Given the description of an element on the screen output the (x, y) to click on. 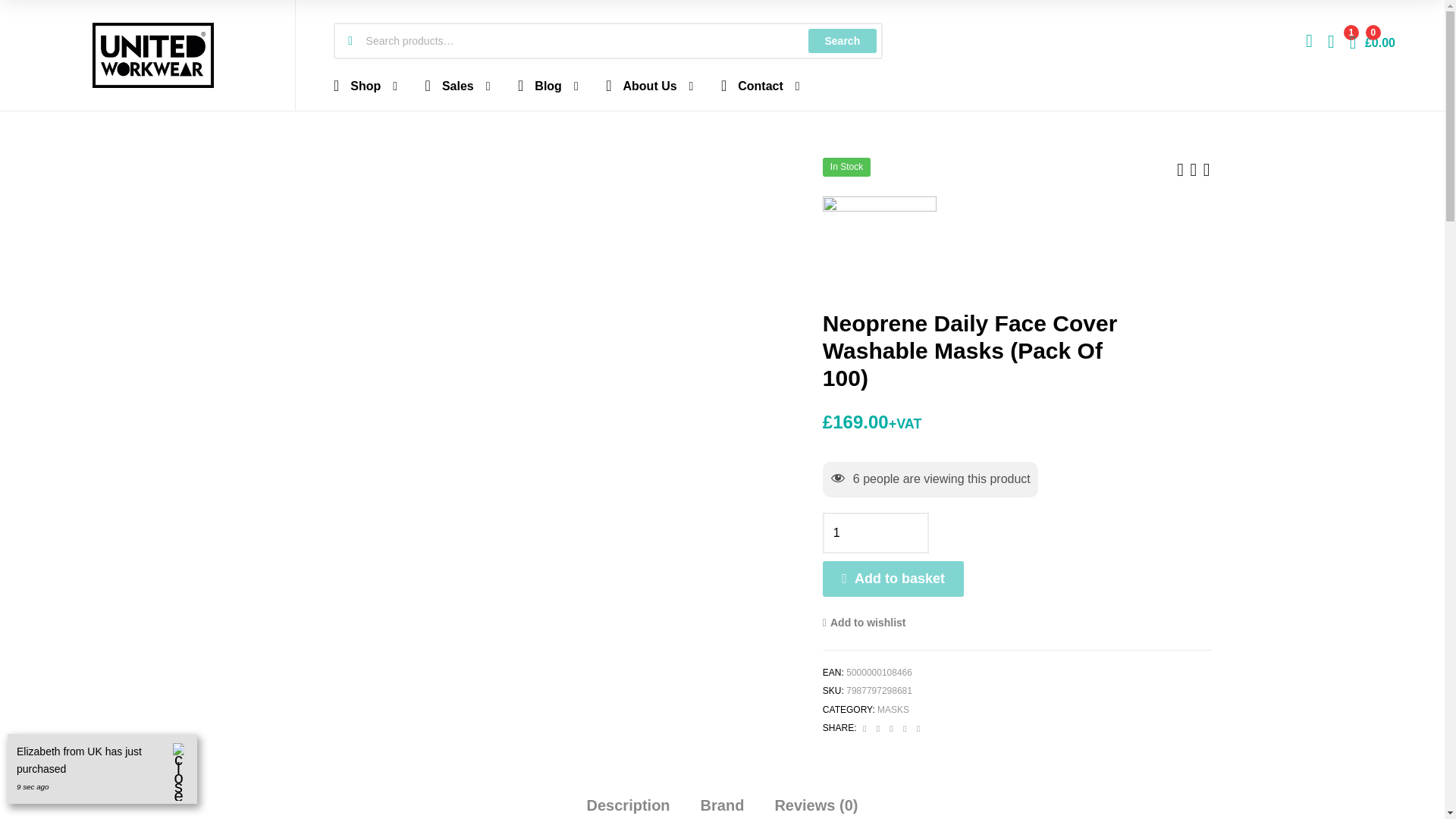
View your shopping cart (1371, 41)
Email to a Friend (917, 727)
About Us (649, 84)
Search (842, 40)
Share on LinkedIn (892, 727)
Share on Twitter (879, 727)
Share on Pinterest (905, 727)
Contact (760, 84)
United Workwear (879, 253)
Shop (365, 84)
Blog (548, 84)
Share on facebook (865, 727)
1 (875, 532)
Sales (457, 84)
